Given the description of an element on the screen output the (x, y) to click on. 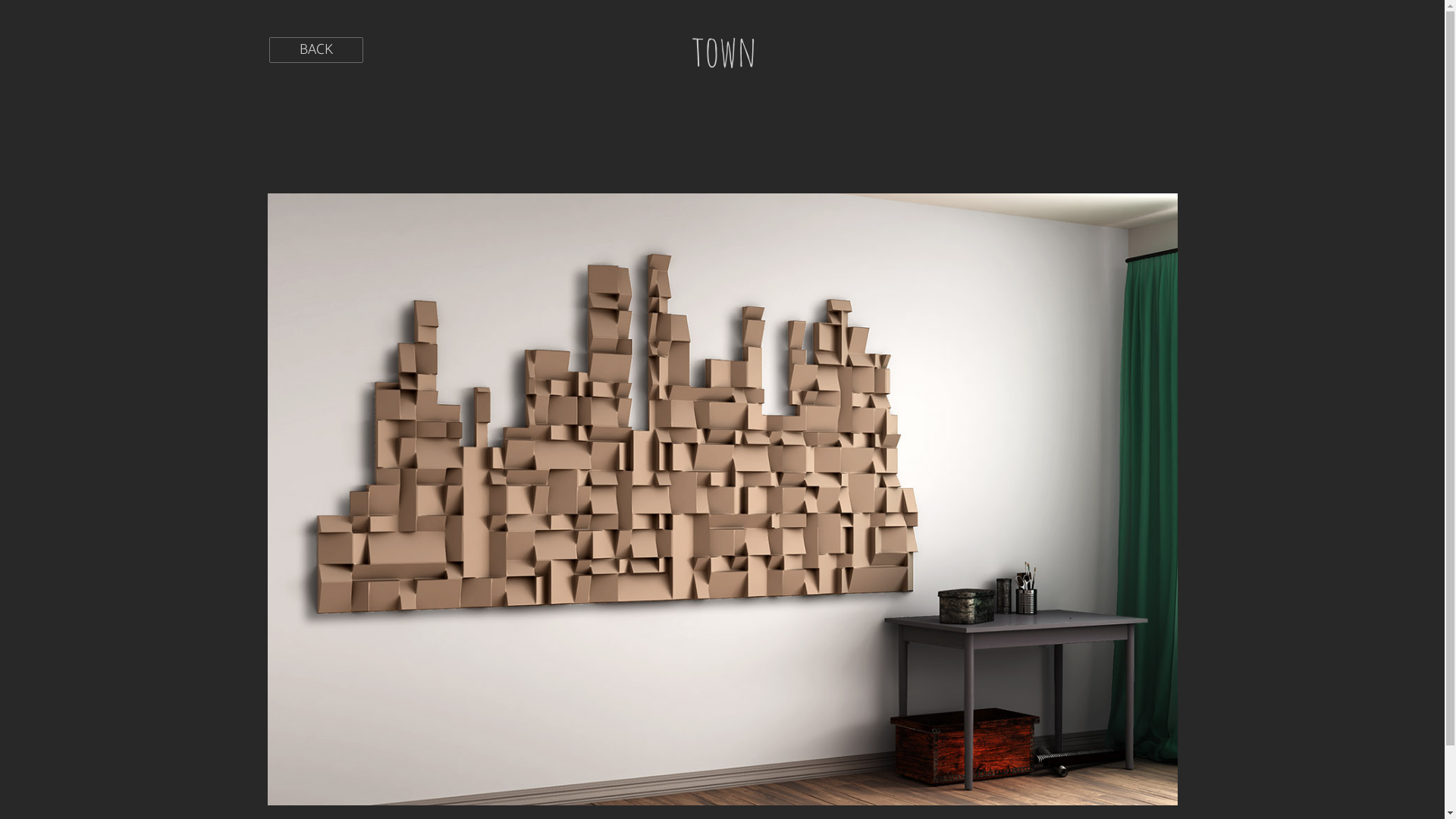
BACK Element type: text (315, 49)
